Given the description of an element on the screen output the (x, y) to click on. 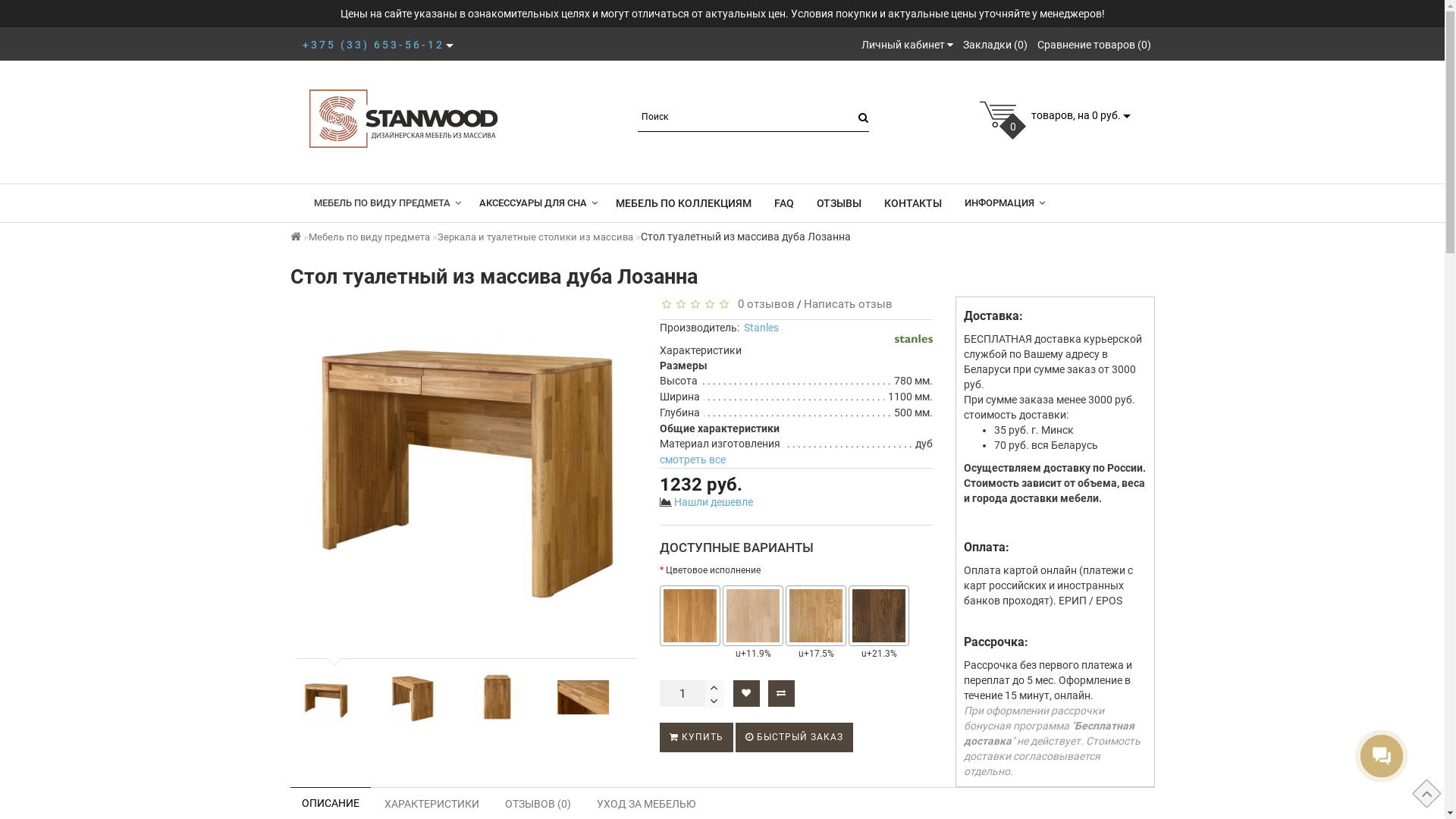
FAQ Element type: text (783, 202)
cart Element type: hover (997, 114)
Stanles Element type: hover (913, 338)
Stanles Element type: text (760, 327)
+375 (33) 653-56-12 Element type: text (372, 44)
  Element type: text (714, 700)
Stanwood.by Element type: hover (403, 118)
  Element type: text (714, 686)
